Given the description of an element on the screen output the (x, y) to click on. 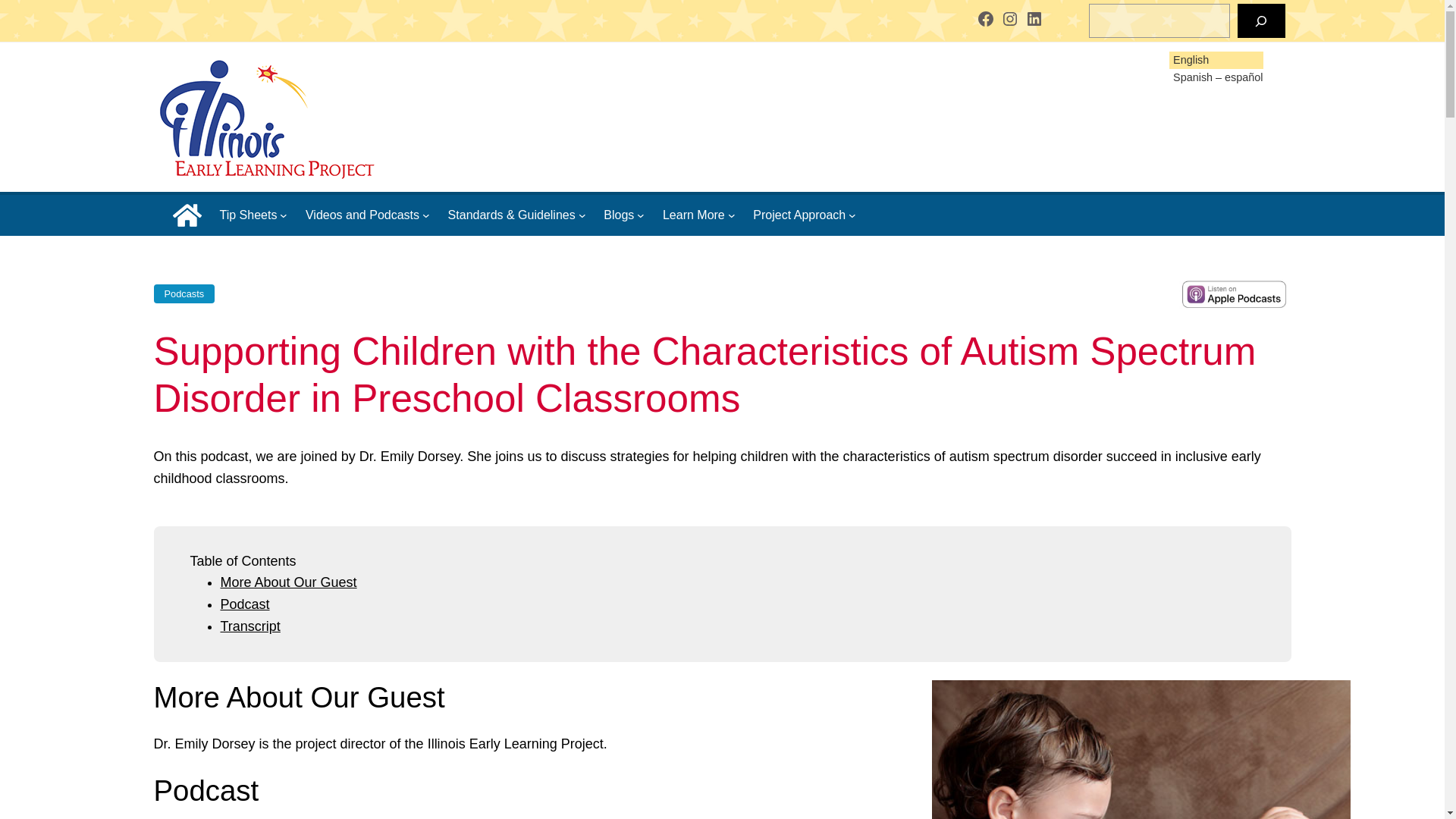
Tip Sheets (248, 215)
English (1188, 60)
Instagram (1010, 18)
Facebook (985, 18)
Blogs (618, 215)
Videos and Podcasts (362, 215)
LinkedIn (1034, 18)
